Given the description of an element on the screen output the (x, y) to click on. 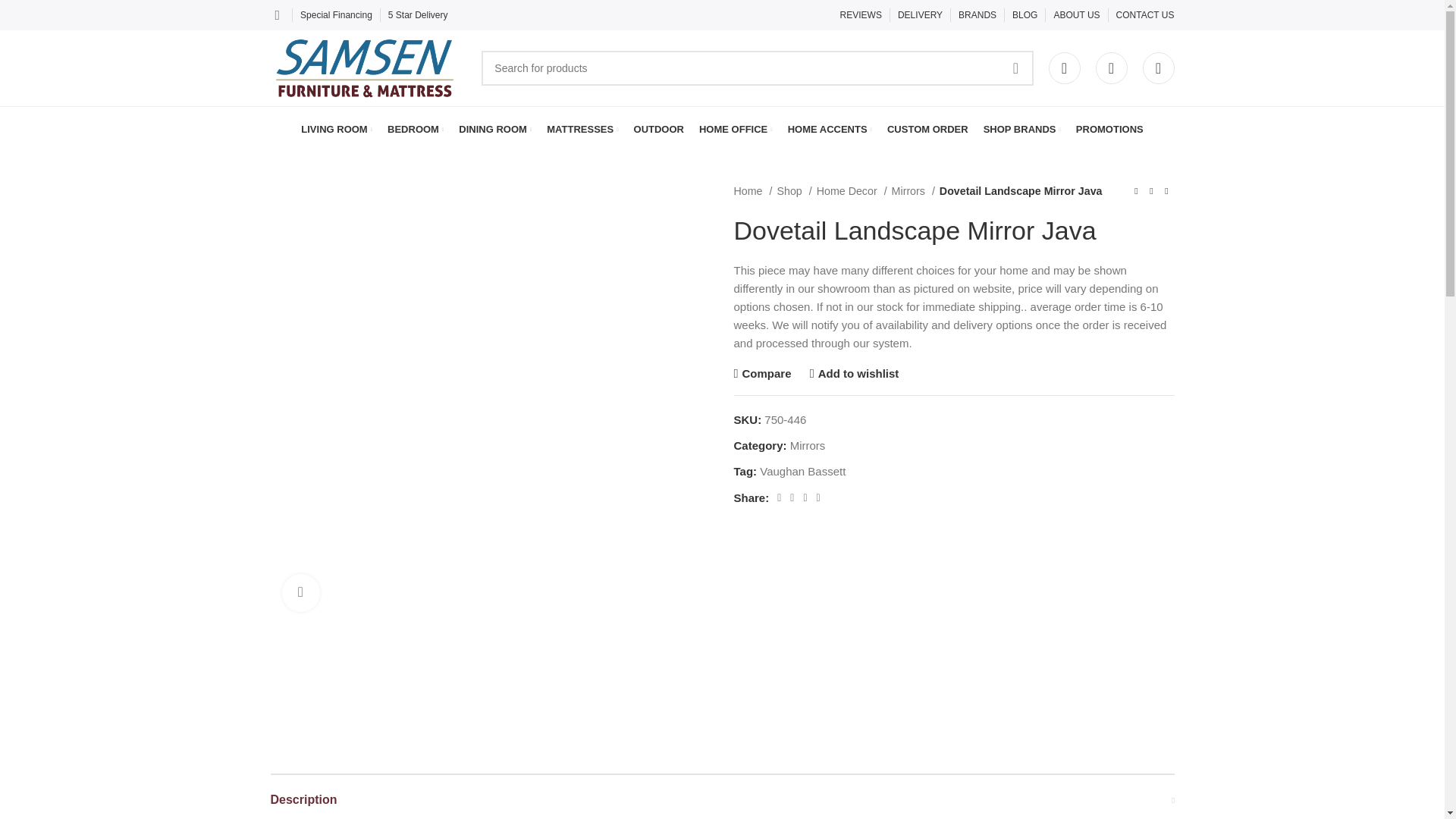
Compare products (1110, 68)
ABOUT US (1075, 15)
Log in (954, 313)
5 Star Delivery  (418, 14)
BRANDS (976, 15)
Special Financing (335, 14)
BEDROOM (415, 129)
LIVING ROOM (336, 129)
SEARCH (1014, 67)
CONTACT US (1145, 15)
